Given the description of an element on the screen output the (x, y) to click on. 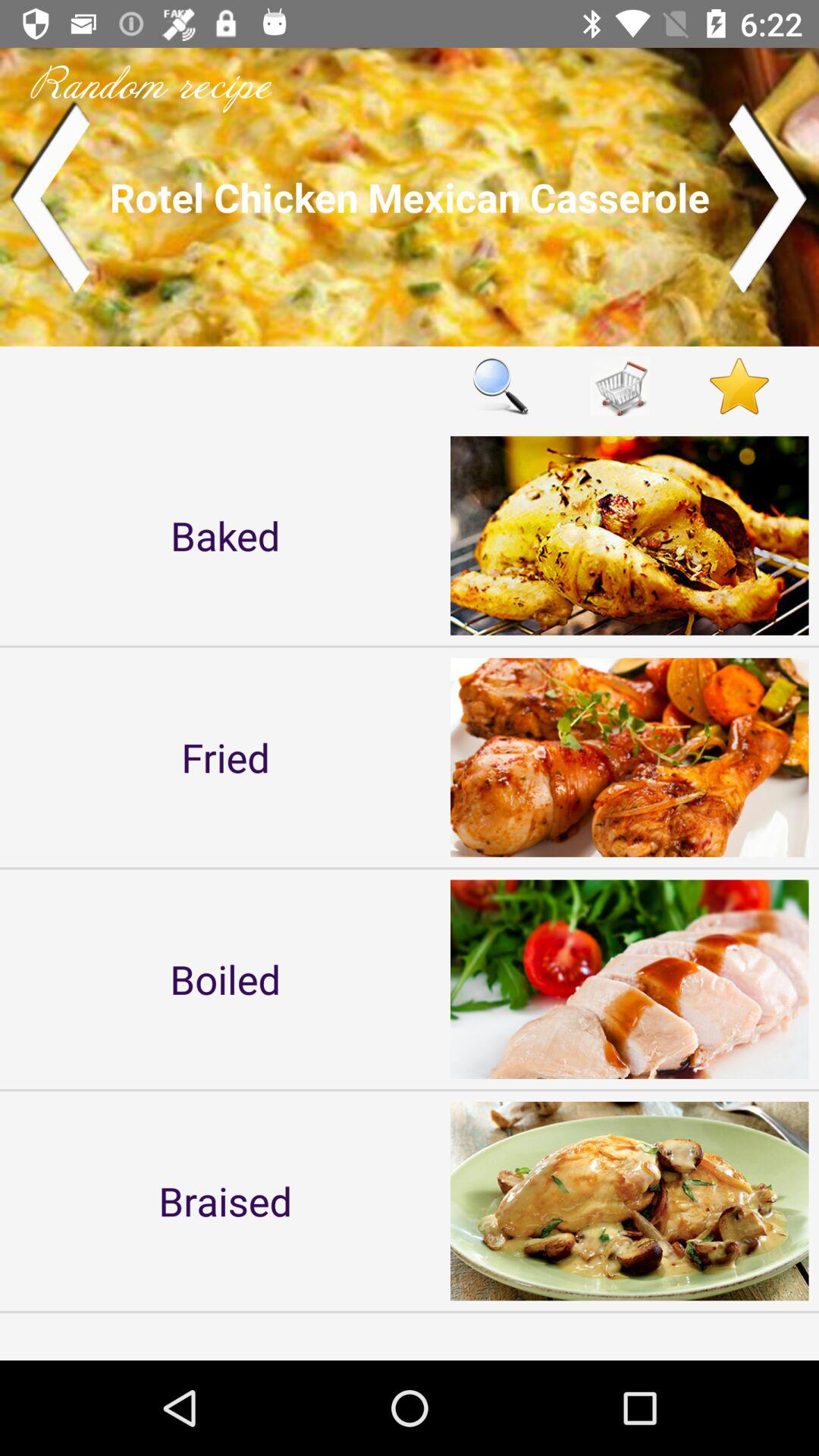
next photos (769, 196)
